Given the description of an element on the screen output the (x, y) to click on. 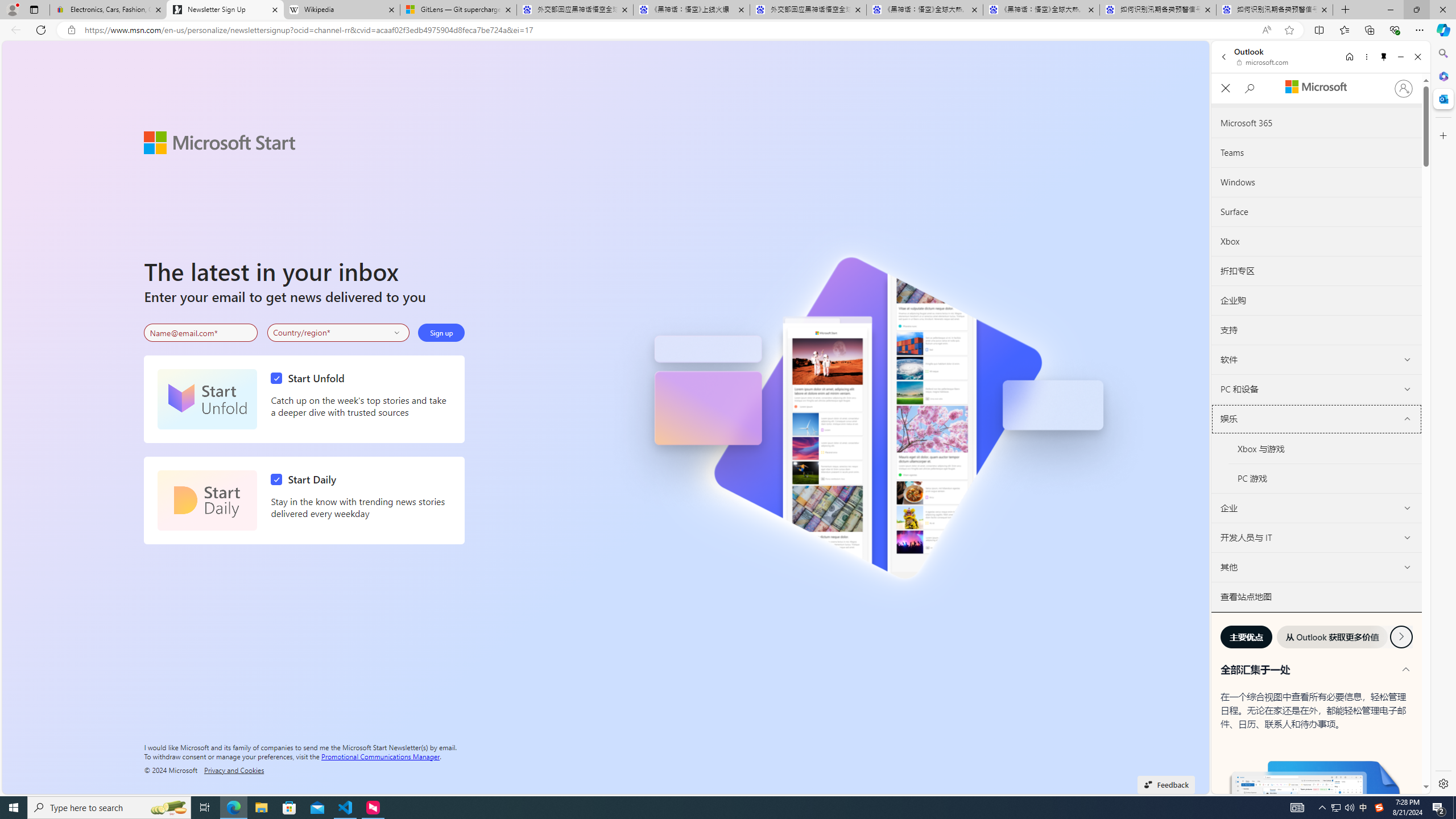
Surface (1316, 212)
Start Unfold (207, 399)
